Given the description of an element on the screen output the (x, y) to click on. 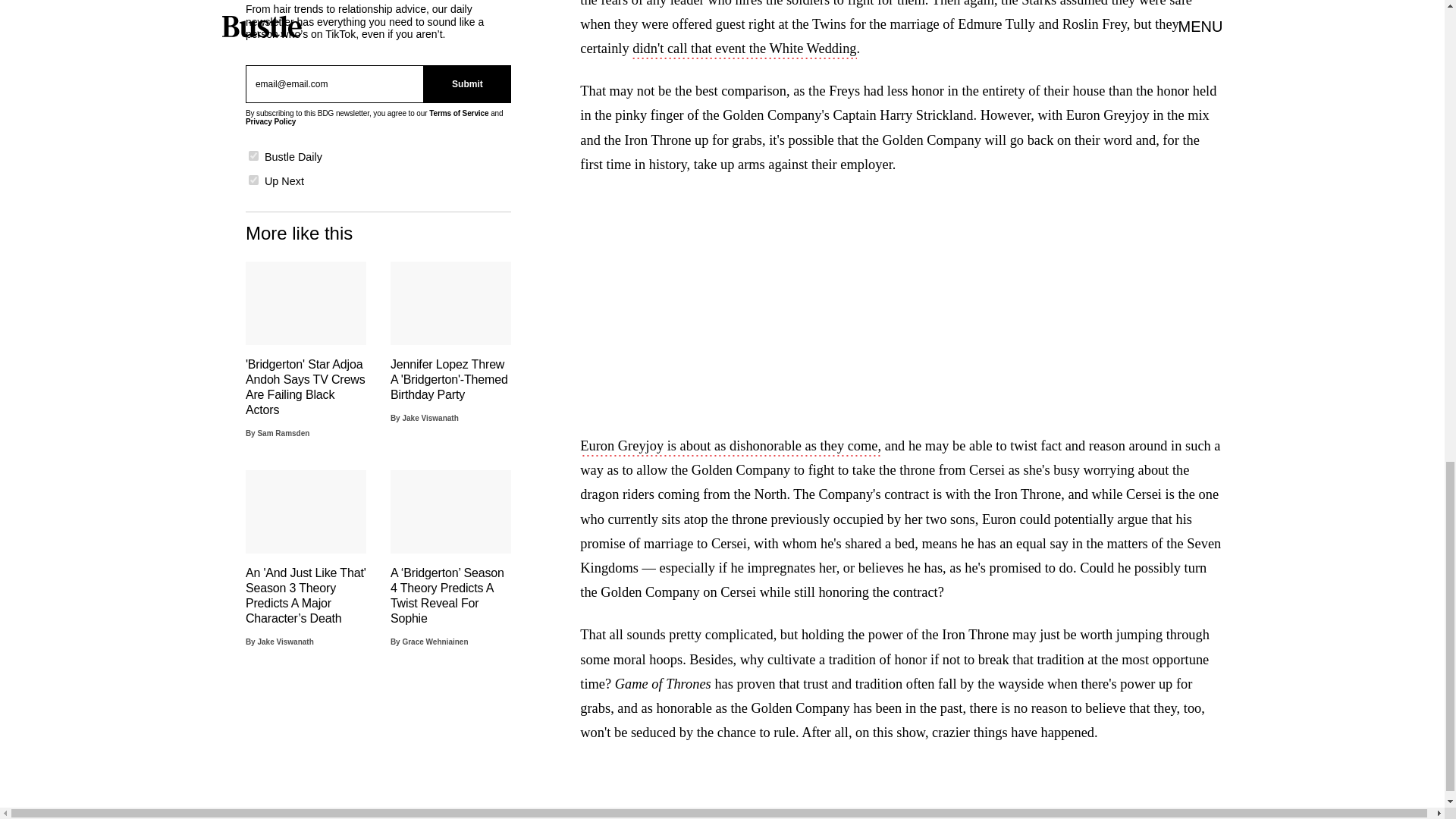
Submit (467, 84)
didn't call that event the White Wedding (743, 49)
Privacy Policy (270, 121)
Euron Greyjoy is about as dishonorable as they come, (729, 447)
Terms of Service (458, 112)
